Given the description of an element on the screen output the (x, y) to click on. 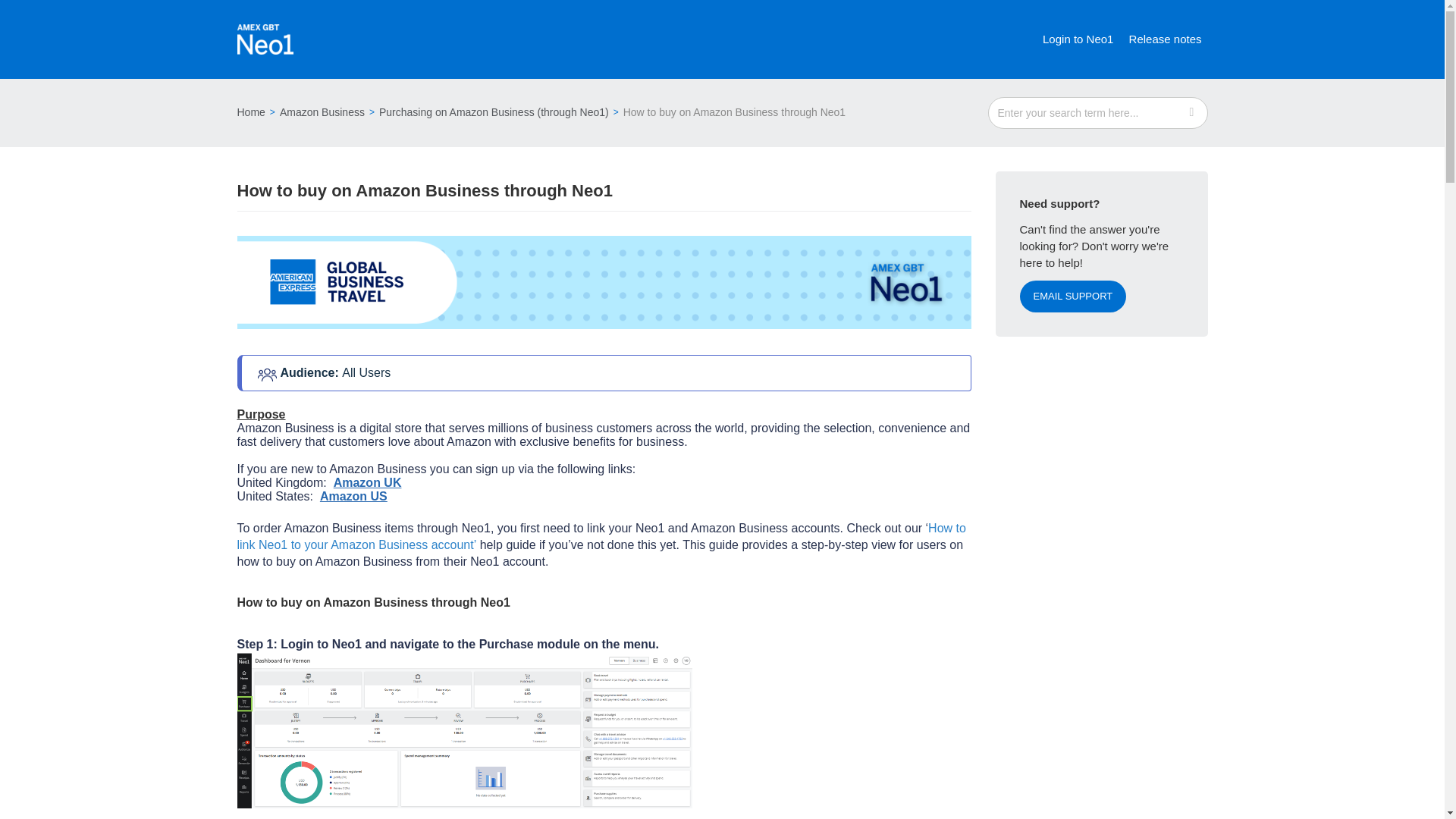
Amazon US (353, 495)
Release notes (1165, 39)
Home (249, 112)
Amazon UK (367, 481)
How to link Neo1 to your Amazon Business account (600, 536)
EMAIL SUPPORT (1072, 296)
Login to Neo1 (1077, 39)
Amazon Business (317, 112)
